Given the description of an element on the screen output the (x, y) to click on. 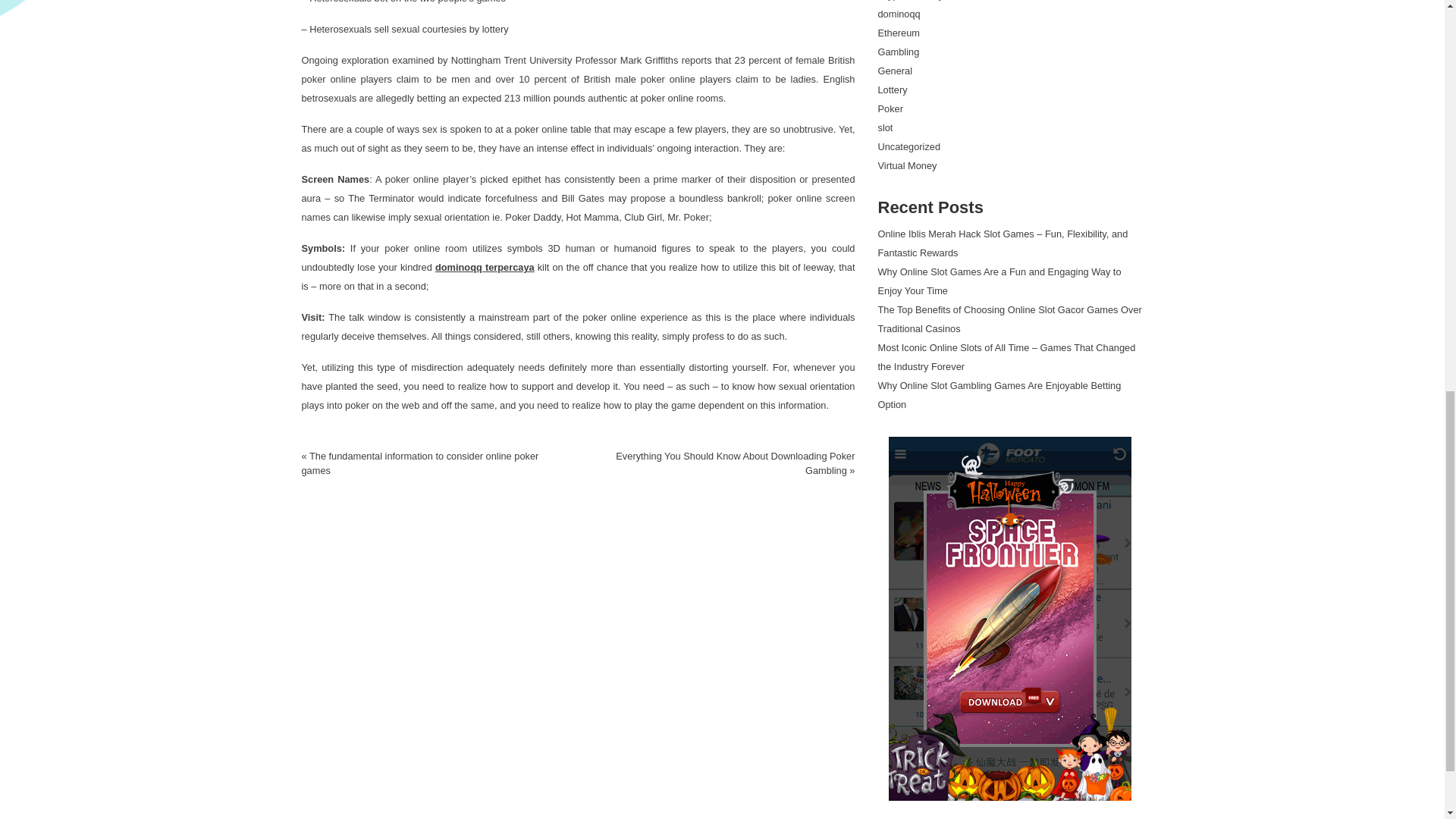
dominoqq (898, 13)
Gambling (898, 51)
Uncategorized (908, 146)
slot (885, 127)
Ethereum (898, 32)
dominoqq terpercaya (484, 266)
Why Online Slot Gambling Games Are Enjoyable Betting Option (999, 395)
General (894, 70)
Lottery (892, 89)
